Given the description of an element on the screen output the (x, y) to click on. 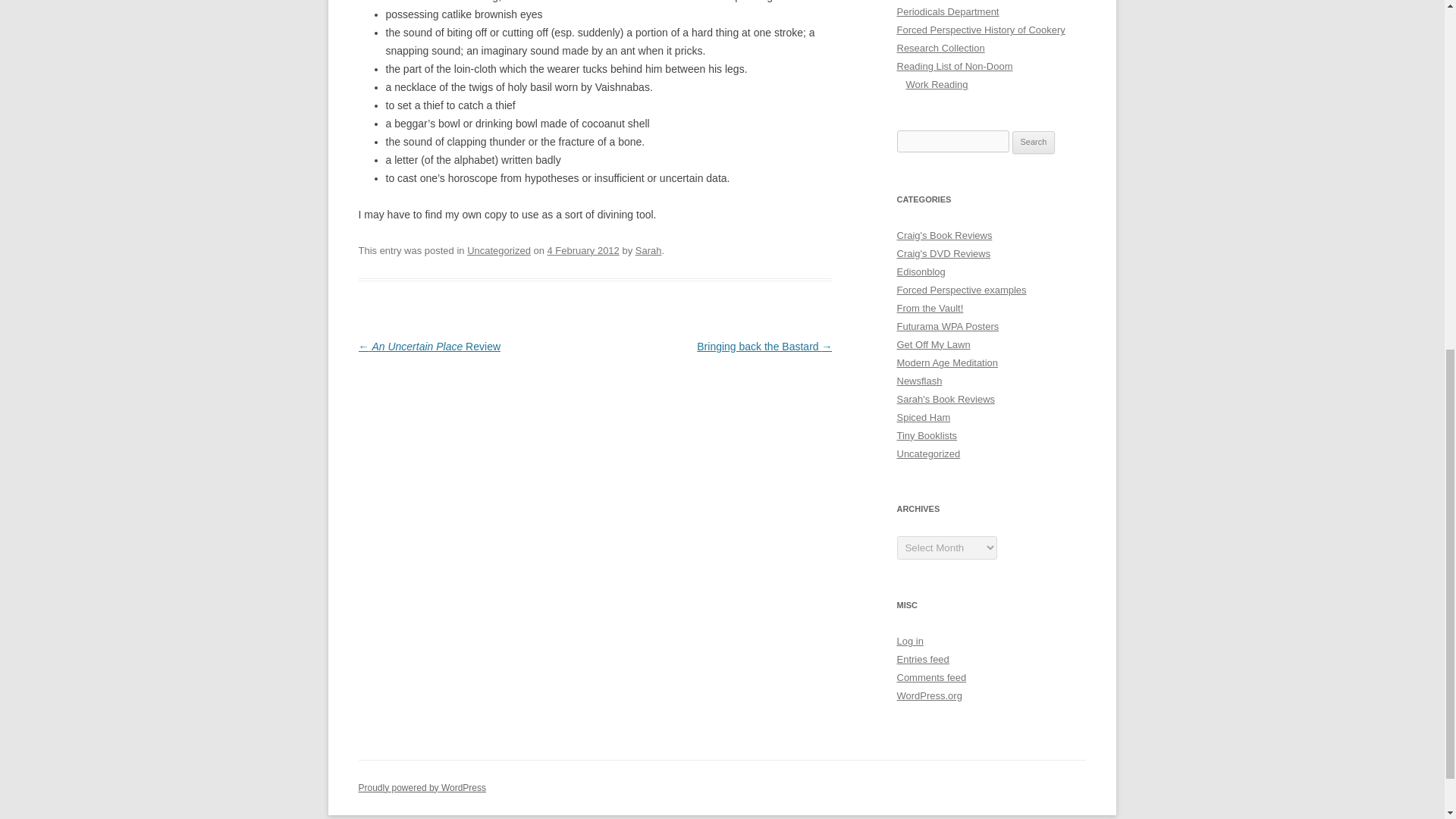
Sarah (648, 250)
Reading List of Non-Doom (953, 66)
Search (1033, 142)
4 February 2012 (583, 250)
Tiny Booklists (926, 435)
View all posts by Sarah (648, 250)
Spiced Ham (923, 417)
Uncategorized (499, 250)
Get Off My Lawn (932, 344)
Periodicals Department (947, 11)
Modern Age Meditation (946, 362)
Craig's DVD Reviews (943, 253)
Search (1033, 142)
Futurama WPA Posters (947, 326)
Newsflash (919, 380)
